Given the description of an element on the screen output the (x, y) to click on. 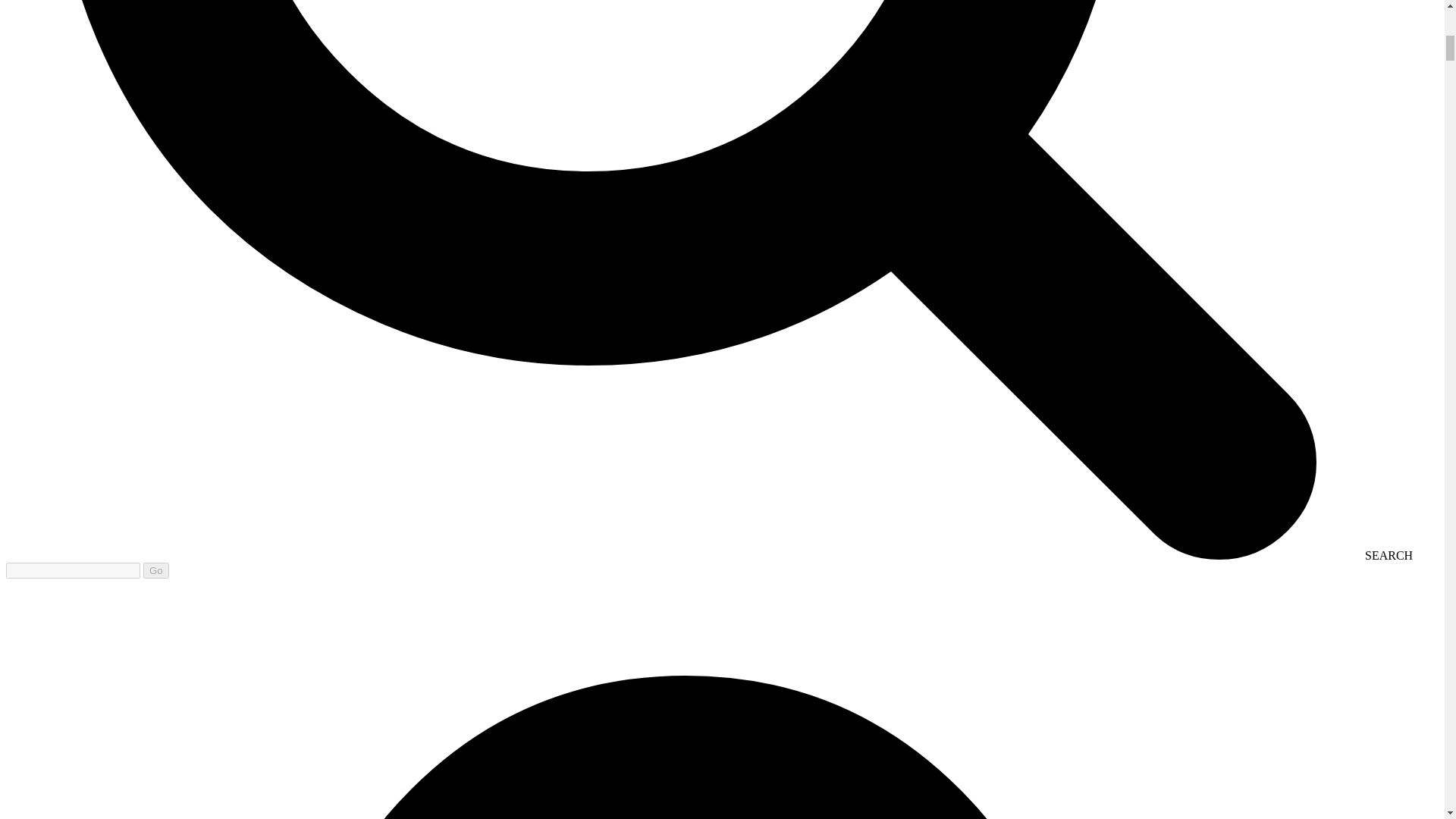
Go (155, 570)
Go (155, 570)
